Given the description of an element on the screen output the (x, y) to click on. 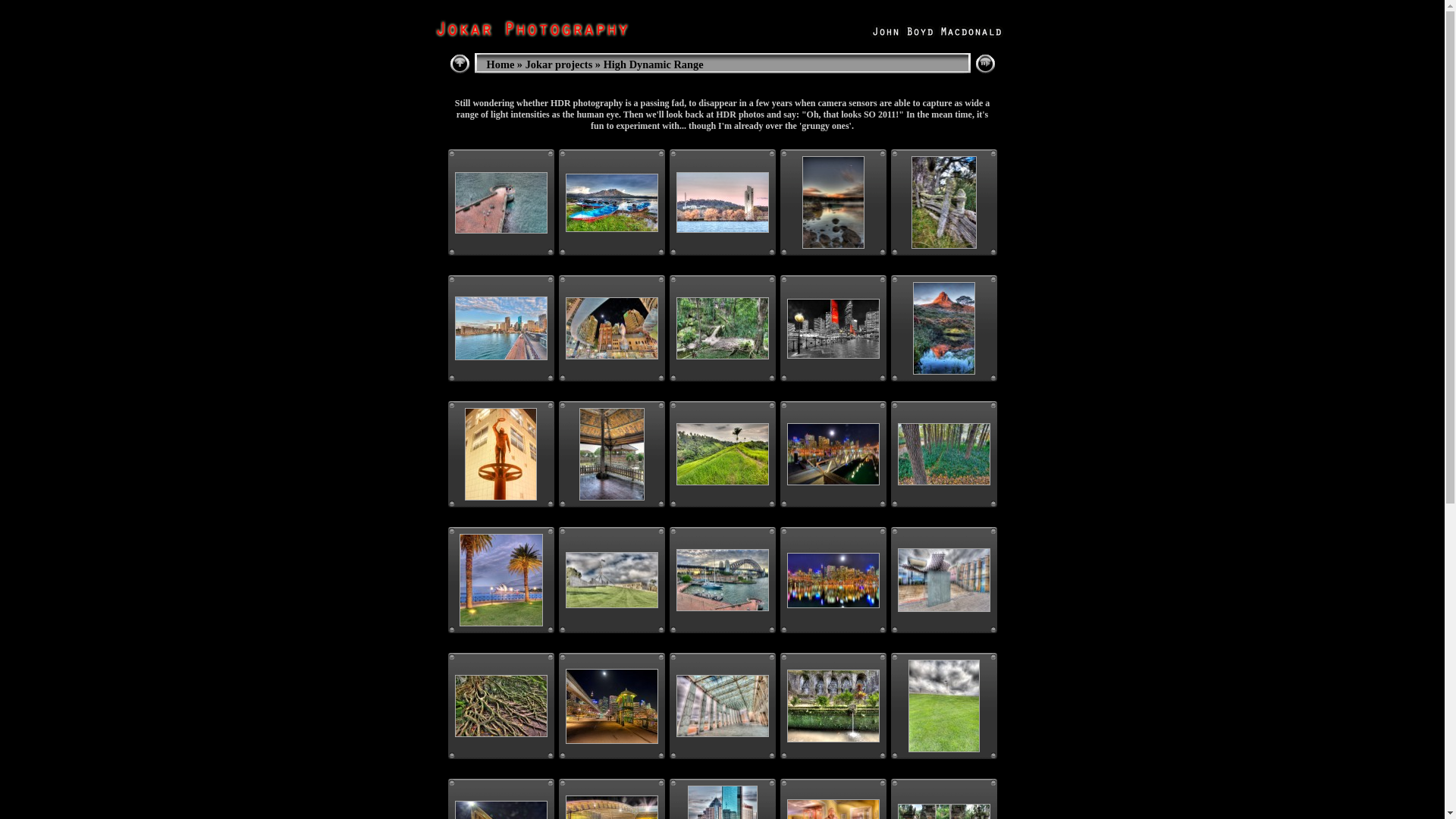
 Sydney Harbour Bridge  Element type: hover (722, 580)
 Tampaksiring, Bali, Indonesia  Element type: hover (833, 705)
 Monorail from Darling Harbour, Sydney  Element type: hover (611, 328)
 Up one level  Element type: hover (458, 64)
 Campuan Ridge, Ubud, Bali, Indonesia  Element type: hover (722, 454)
Home Element type: text (500, 63)
 Start/Stop slideshow - Double-Click to change speed  Element type: hover (985, 64)
 Dawn at Lake Batur, Bali, Indonesia  Element type: hover (611, 201)
 Darling Harbour, Sydney  Element type: hover (833, 454)
Jokar projects Element type: text (559, 63)
 Parliament House, Canberra  Element type: hover (943, 705)
 Goa Gajah, Bali, Indonesia  Element type: hover (722, 328)
 Sydney Opera House  Element type: hover (500, 579)
 Questacon Science Centre, Canberra  Element type: hover (500, 453)
 Tree roots at Goa Gajah, Bali, Indonesia  Element type: hover (501, 705)
 Jetty in dawn light at Lake St Clair, Tasmania  Element type: hover (833, 202)
 Barn Bluff, Cradle Mountain National Park, Tasmania  Element type: hover (944, 328)
 Carillon, Lake Burley Griffin, Canberra  Element type: hover (722, 202)
 Sydney Harbour  Element type: hover (501, 201)
 Klungkung, Bali, Indonesia  Element type: hover (611, 453)
 Circular Quay, Sydney Harbour  Element type: hover (501, 328)
 A.J. Rial stockyards, Farm Ridge, Kosciuszko National Park  Element type: hover (943, 202)
 Parliament House, Executive Wing  Element type: hover (611, 580)
 Circular Quay, Sydney  Element type: hover (833, 328)
 Darling Harbour, Sydney  Element type: hover (611, 705)
 Canberra Theatre and Civic Library, Canberra  Element type: hover (943, 579)
 Sydney_City_20090511_011_2_3_4_5.jpg  Element type: hover (833, 579)
 Glebe Park, Canberra  Element type: hover (943, 454)
 Entrance to Parliament House, Canberra  Element type: hover (722, 705)
